Given the description of an element on the screen output the (x, y) to click on. 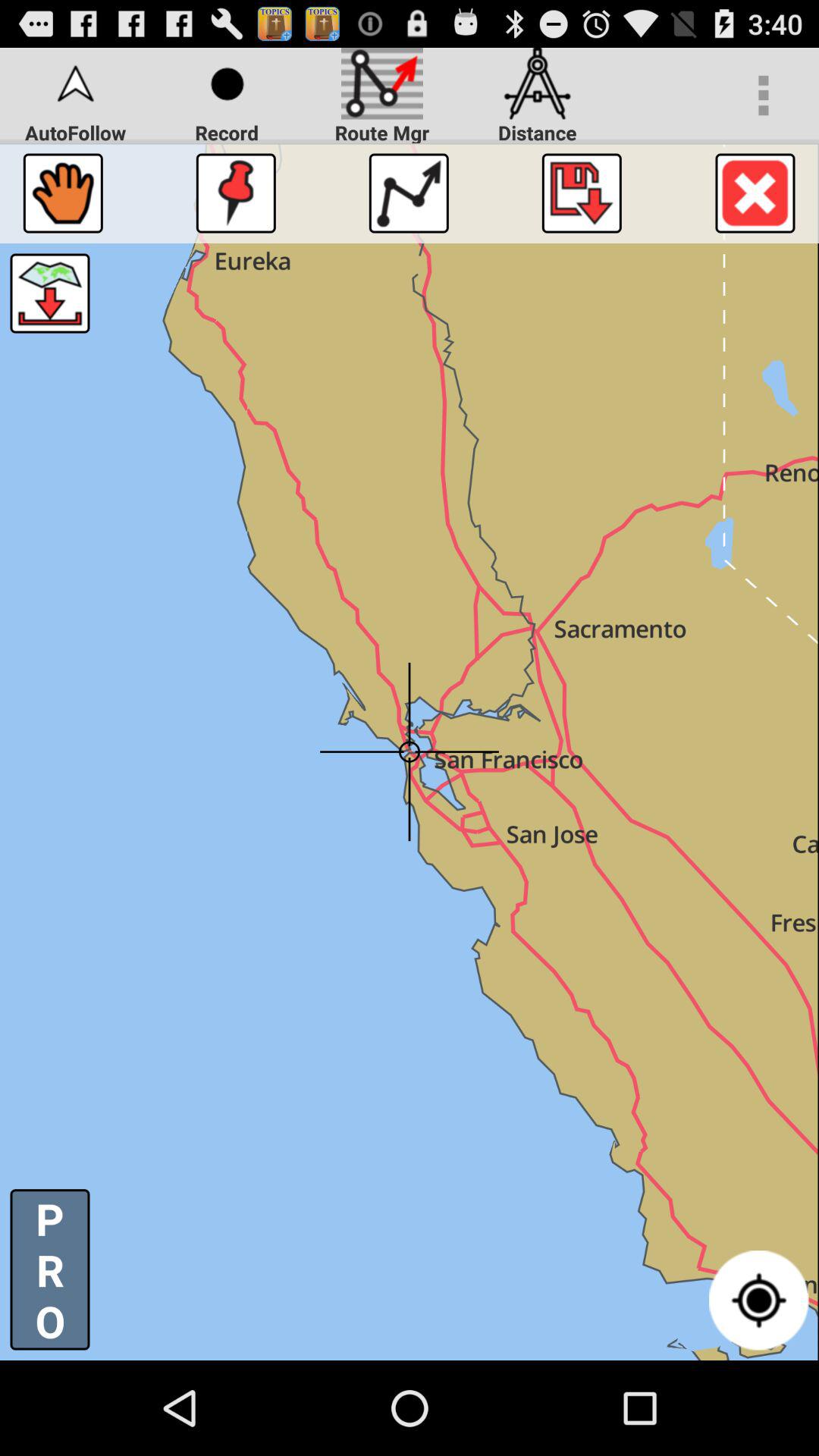
delete pin (755, 193)
